Given the description of an element on the screen output the (x, y) to click on. 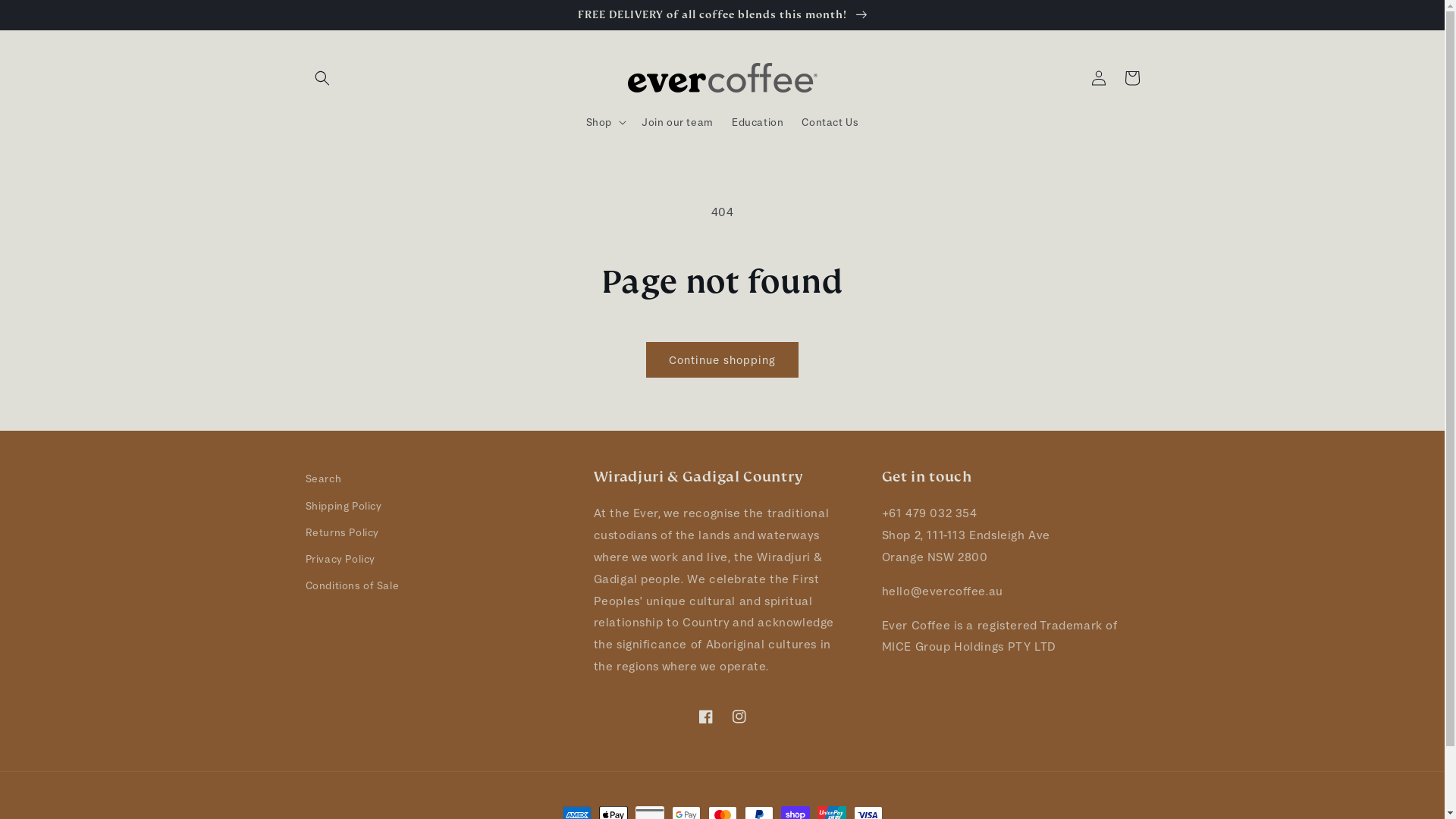
Shipping Policy Element type: text (342, 505)
Education Element type: text (757, 122)
Facebook Element type: text (704, 716)
Log in Element type: text (1097, 77)
Instagram Element type: text (738, 716)
Contact Us Element type: text (829, 122)
Cart Element type: text (1131, 77)
Continue shopping Element type: text (722, 359)
FREE DELIVERY of all coffee blends this month! Element type: text (722, 14)
Join our team Element type: text (677, 122)
Privacy Policy Element type: text (339, 559)
Search Element type: text (322, 480)
Conditions of Sale Element type: text (351, 585)
Returns Policy Element type: text (341, 532)
